Given the description of an element on the screen output the (x, y) to click on. 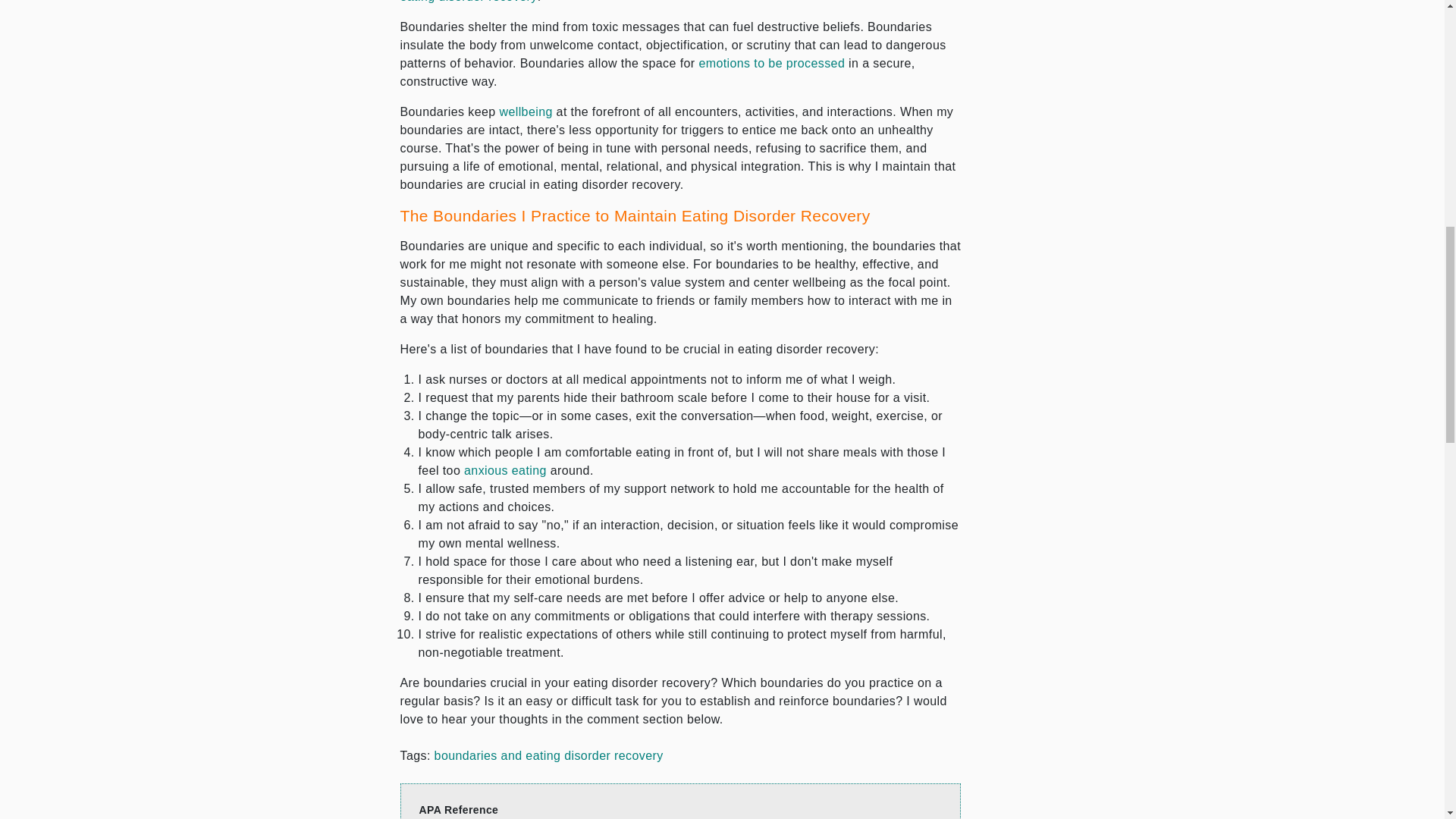
What Is Mental Wellbeing? Definition and Examples (525, 111)
What Does Eating Disorder Recovery Look Like? (468, 1)
Use Mindful Eating to Reduce Anxiety (505, 470)
Must We Process All Traumatic Memories to Heal from DID? (771, 62)
